Given the description of an element on the screen output the (x, y) to click on. 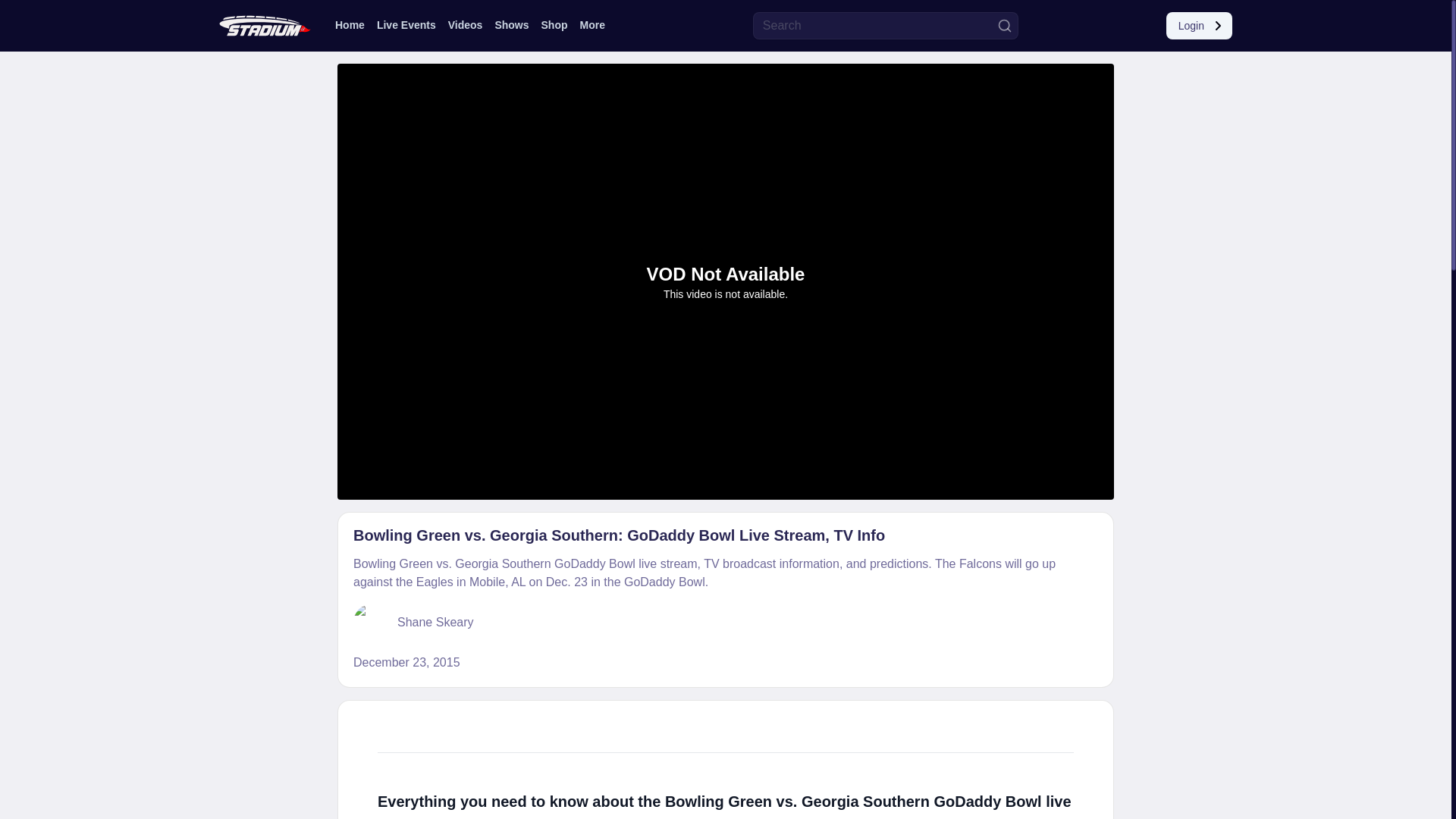
Shop (554, 24)
Live Events (406, 24)
Shows (511, 24)
Home (349, 24)
Login (1198, 25)
